Given the description of an element on the screen output the (x, y) to click on. 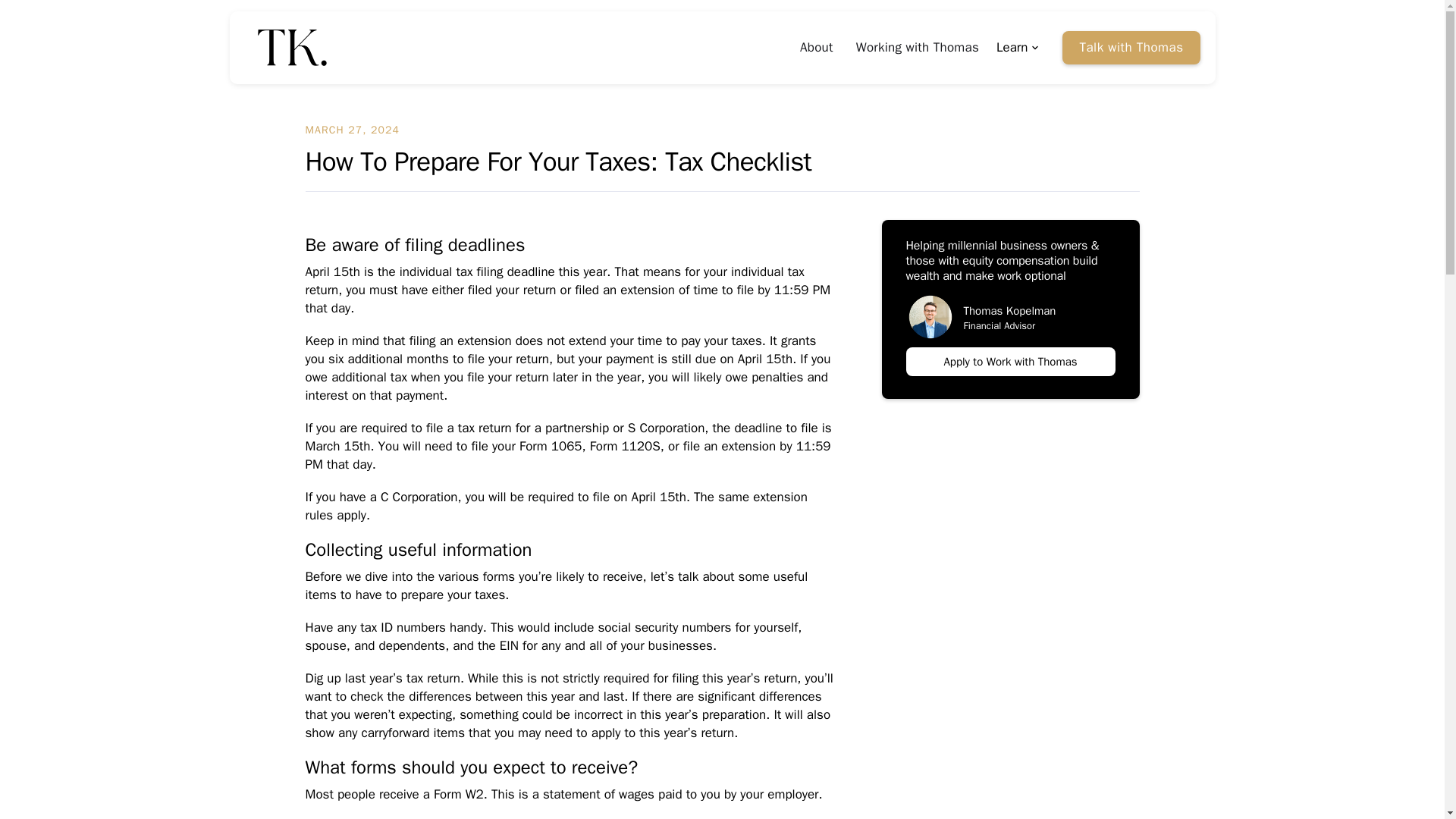
Talk with Thomas (1130, 47)
Working with Thomas (917, 47)
About (816, 47)
Apply to Work with Thomas (1010, 361)
